Given the description of an element on the screen output the (x, y) to click on. 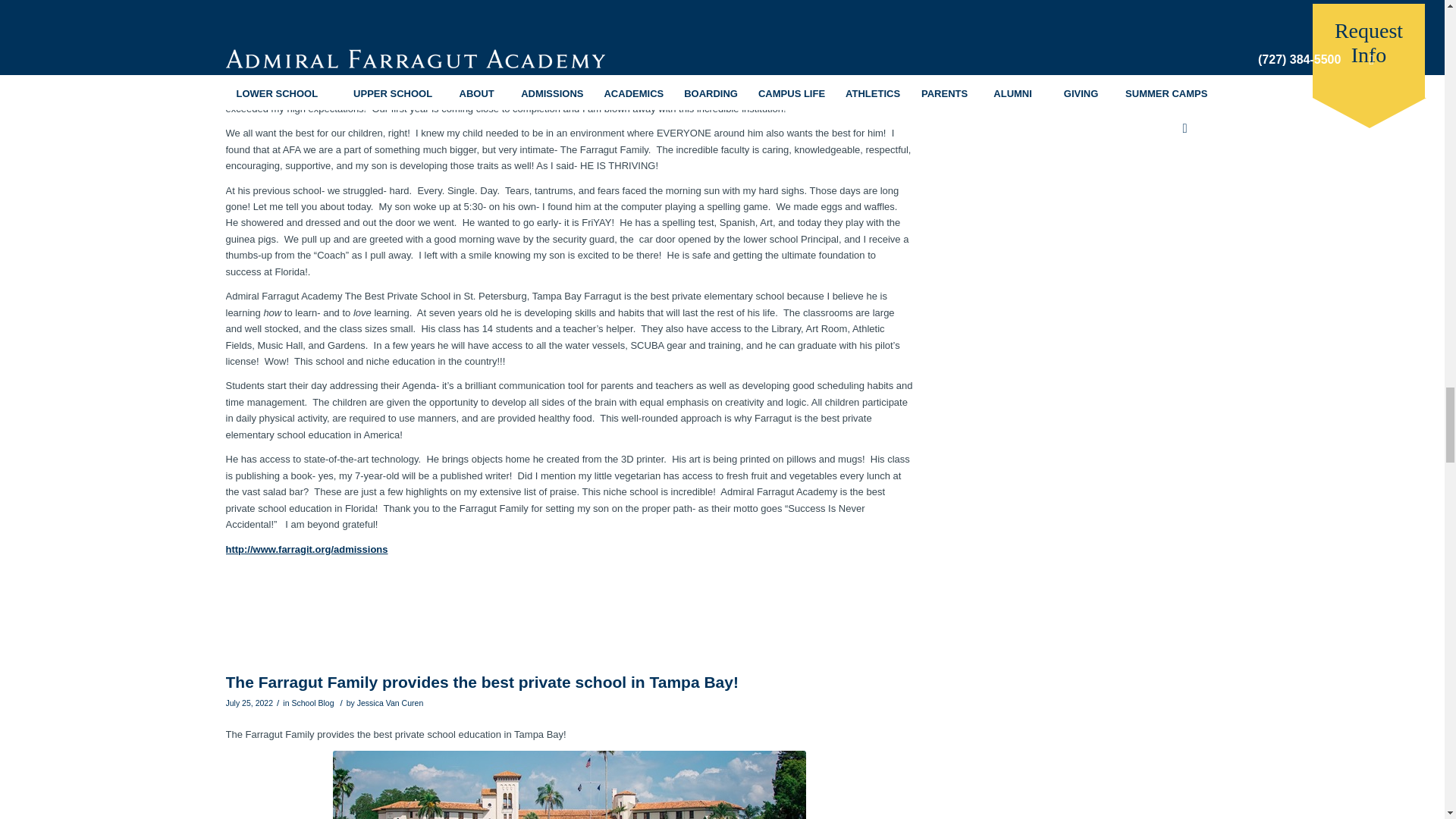
best private school in Tampa Bay (569, 785)
Posts by Jessica Van Curen (389, 702)
